Given the description of an element on the screen output the (x, y) to click on. 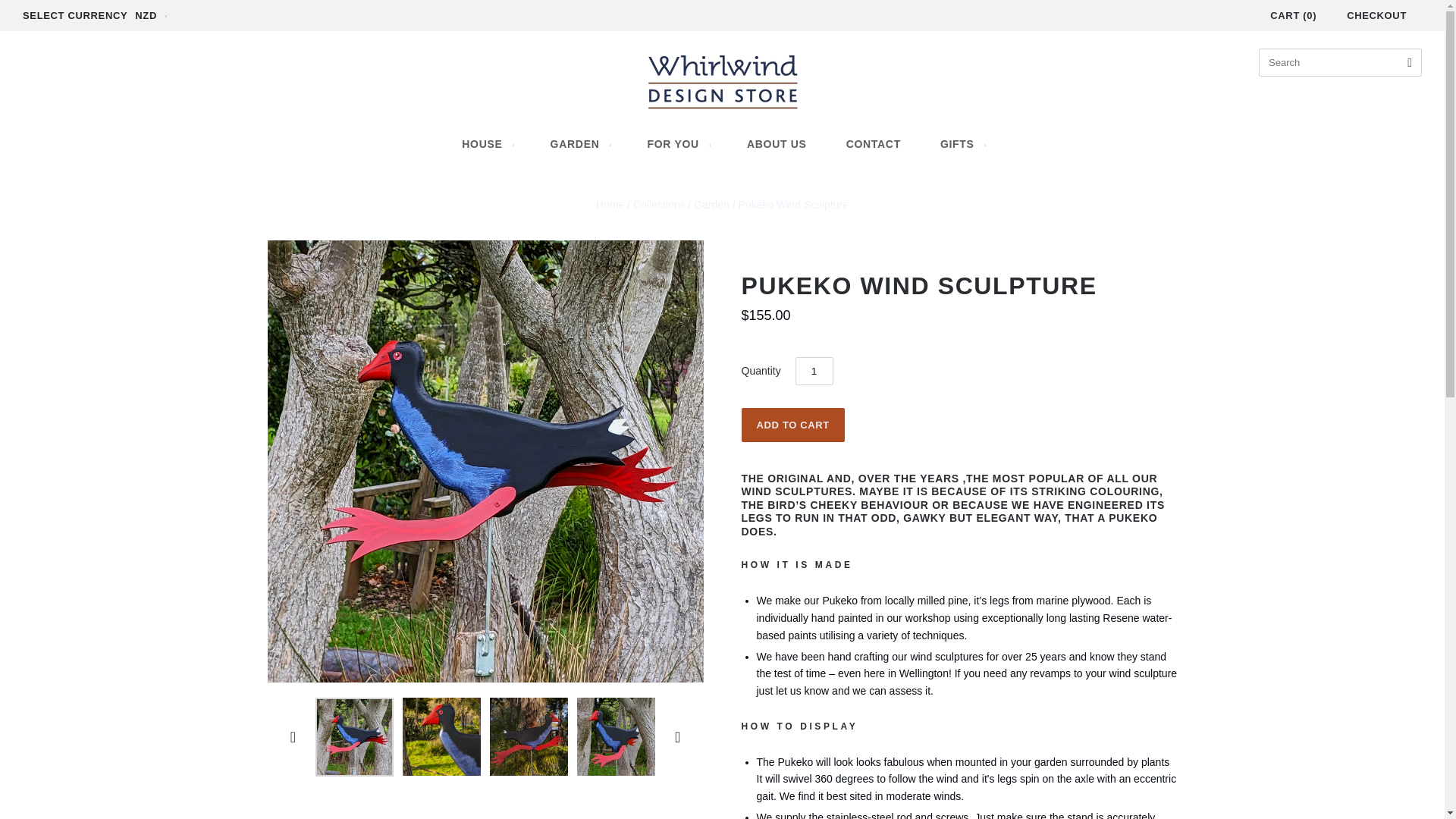
Add to cart (792, 424)
CHECKOUT (1377, 15)
HOUSE (485, 144)
GARDEN (579, 144)
FOR YOU (676, 144)
CONTACT (873, 144)
1 (813, 370)
ABOUT US (776, 144)
Collections (658, 204)
GIFTS (961, 144)
Garden (711, 204)
Add to cart (792, 424)
Home (609, 204)
